Given the description of an element on the screen output the (x, y) to click on. 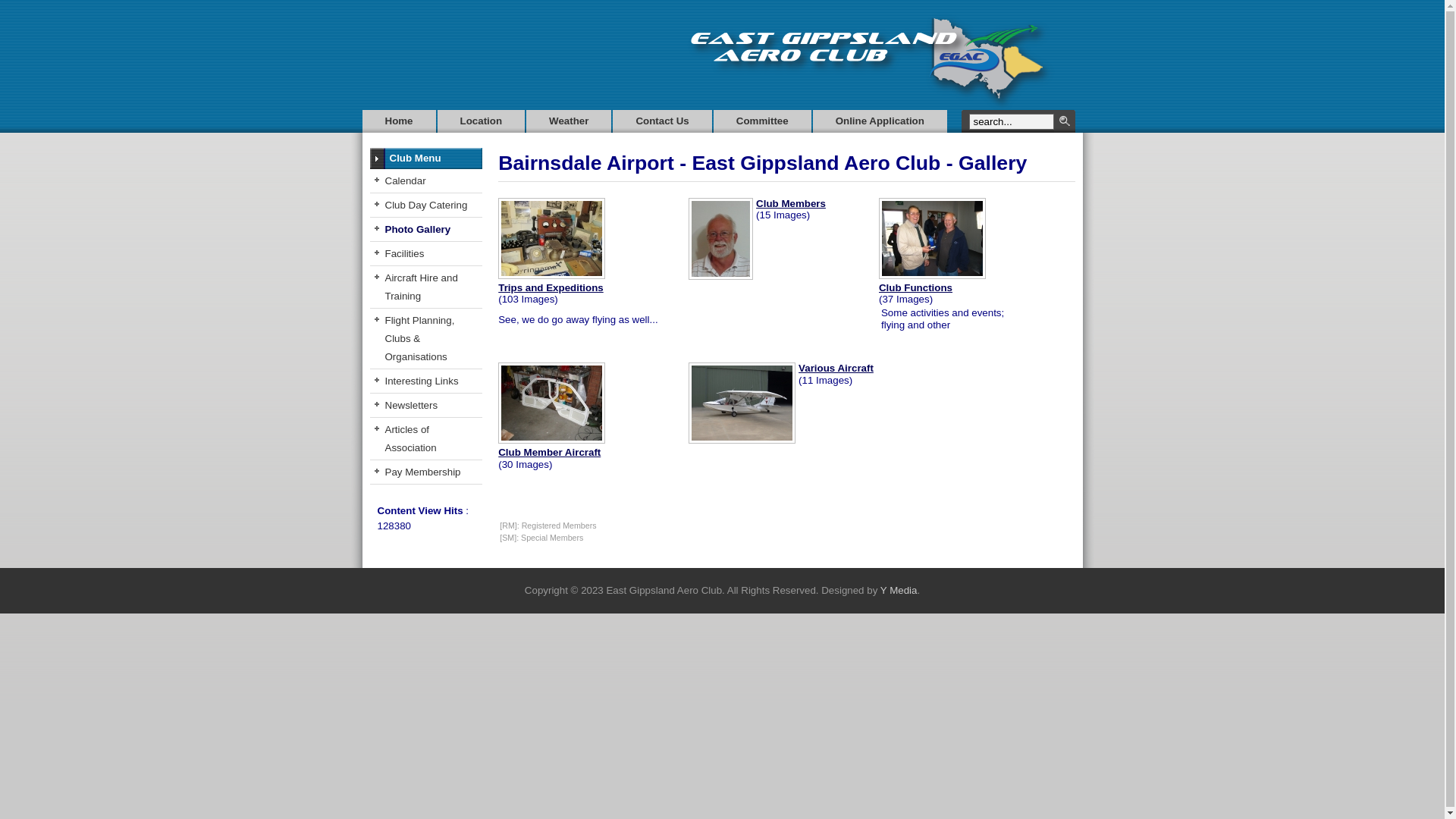
Club Member Aircraft Element type: text (549, 452)
Newsletters Element type: text (426, 405)
East Gippsland Aero Club Element type: hover (880, 60)
Contact Us Element type: text (661, 120)
Aircraft Hire and Training Element type: text (426, 287)
Search Element type: text (1064, 120)
Various Aircraft Element type: text (835, 367)
Y Media Element type: text (898, 590)
Flight Planning, Clubs & Organisations Element type: text (426, 338)
Club Day Catering Element type: text (426, 205)
Club Members Element type: text (790, 203)
Articles of Association Element type: text (426, 438)
Trips and Expeditions Element type: text (550, 287)
Pay Membership Element type: text (426, 472)
Home Element type: text (399, 120)
Club Functions Element type: text (915, 287)
Committee Element type: text (762, 120)
Interesting Links Element type: text (426, 381)
Online Application Element type: text (879, 120)
Location Element type: text (481, 120)
Photo Gallery Element type: text (426, 229)
Calendar Element type: text (426, 181)
Weather Element type: text (568, 120)
Facilities Element type: text (426, 253)
